Given the description of an element on the screen output the (x, y) to click on. 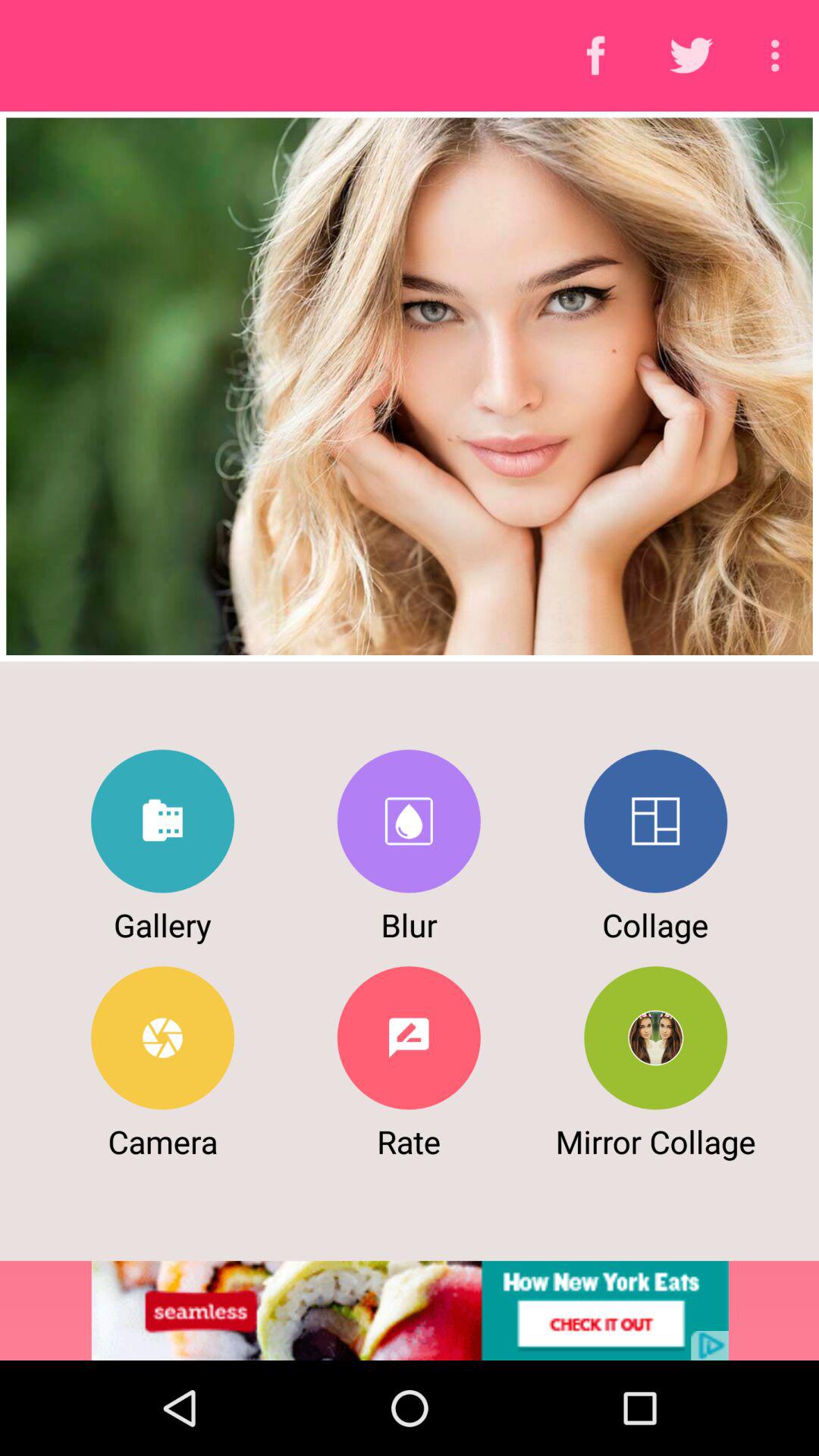
open camera (162, 1037)
